Given the description of an element on the screen output the (x, y) to click on. 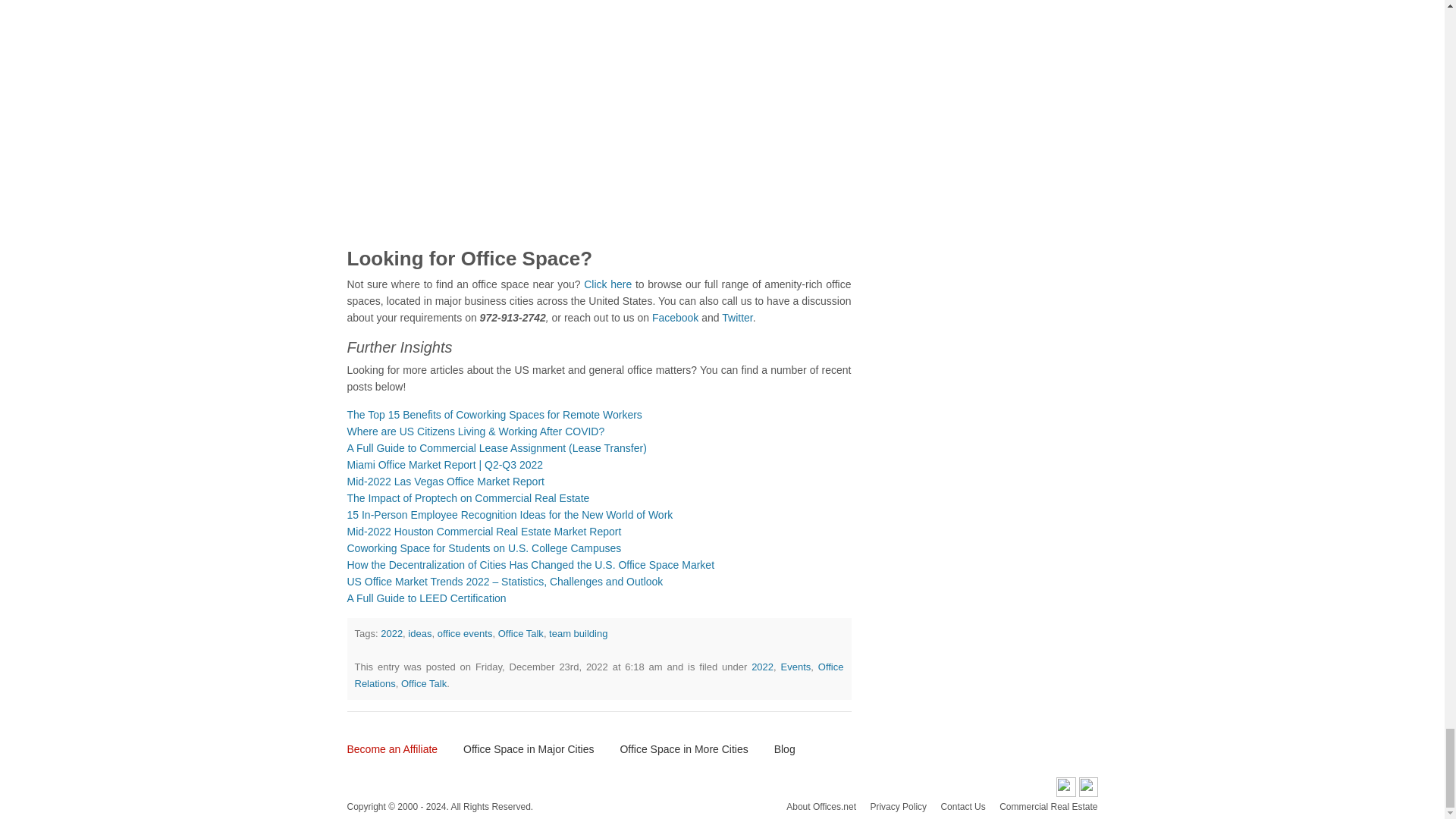
Twitter (735, 317)
Facebook (673, 317)
Mid-2022 Las Vegas Office Market Report (445, 481)
The Impact of Proptech on Commercial Real Estate (468, 498)
Click here (605, 284)
Coworking Space for Students on U.S. College Campuses (484, 548)
The Top 15 Benefits of Coworking Spaces for Remote Workers (494, 414)
Mid-2022 Houston Commercial Real Estate Market Report (484, 531)
